Given the description of an element on the screen output the (x, y) to click on. 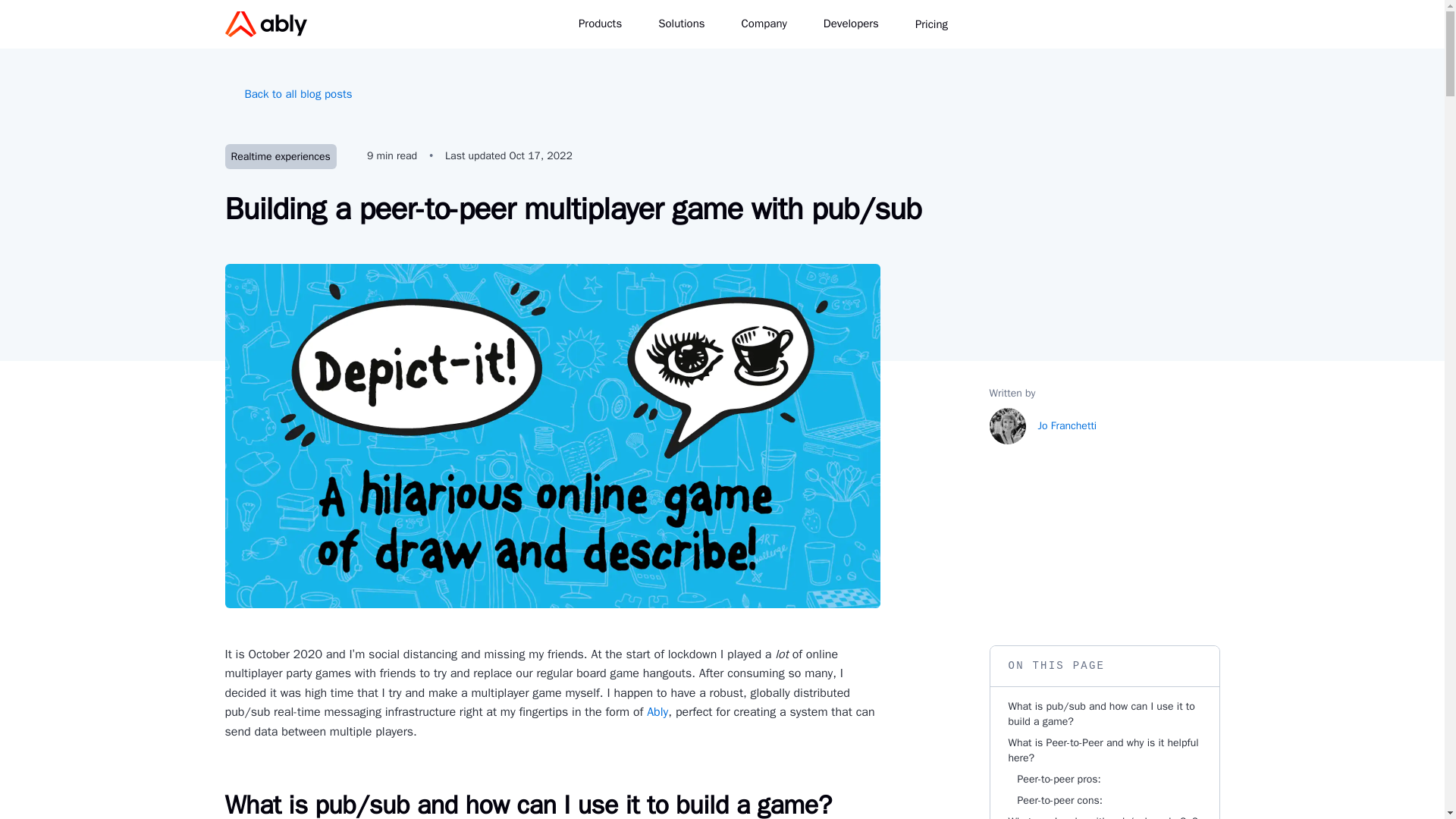
Products (609, 24)
Developers (860, 24)
Solutions (690, 24)
Company (773, 24)
